Given the description of an element on the screen output the (x, y) to click on. 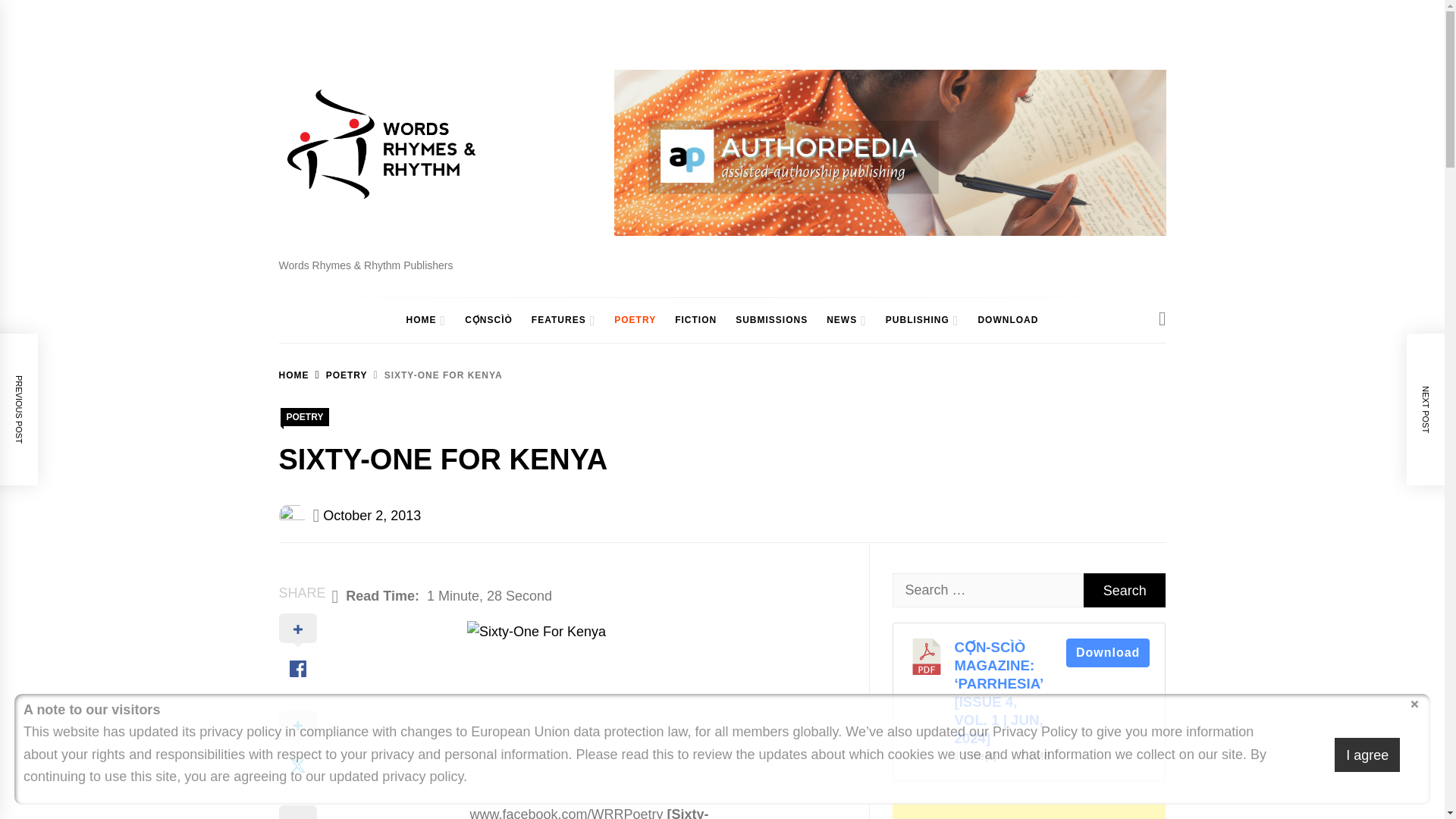
HOME (293, 375)
POETRY (635, 320)
POETRY (305, 416)
Sixty-One For Kenya (589, 706)
POETRY (338, 375)
PUBLISHING (913, 320)
October 2, 2013 (371, 515)
SUBMISSIONS (771, 320)
Header Advertise (890, 152)
FEATURES (555, 320)
SIXTY-ONE FOR KENYA (435, 375)
FICTION (694, 320)
DOWNLOAD (1007, 320)
Search (1124, 590)
Search (1124, 590)
